Given the description of an element on the screen output the (x, y) to click on. 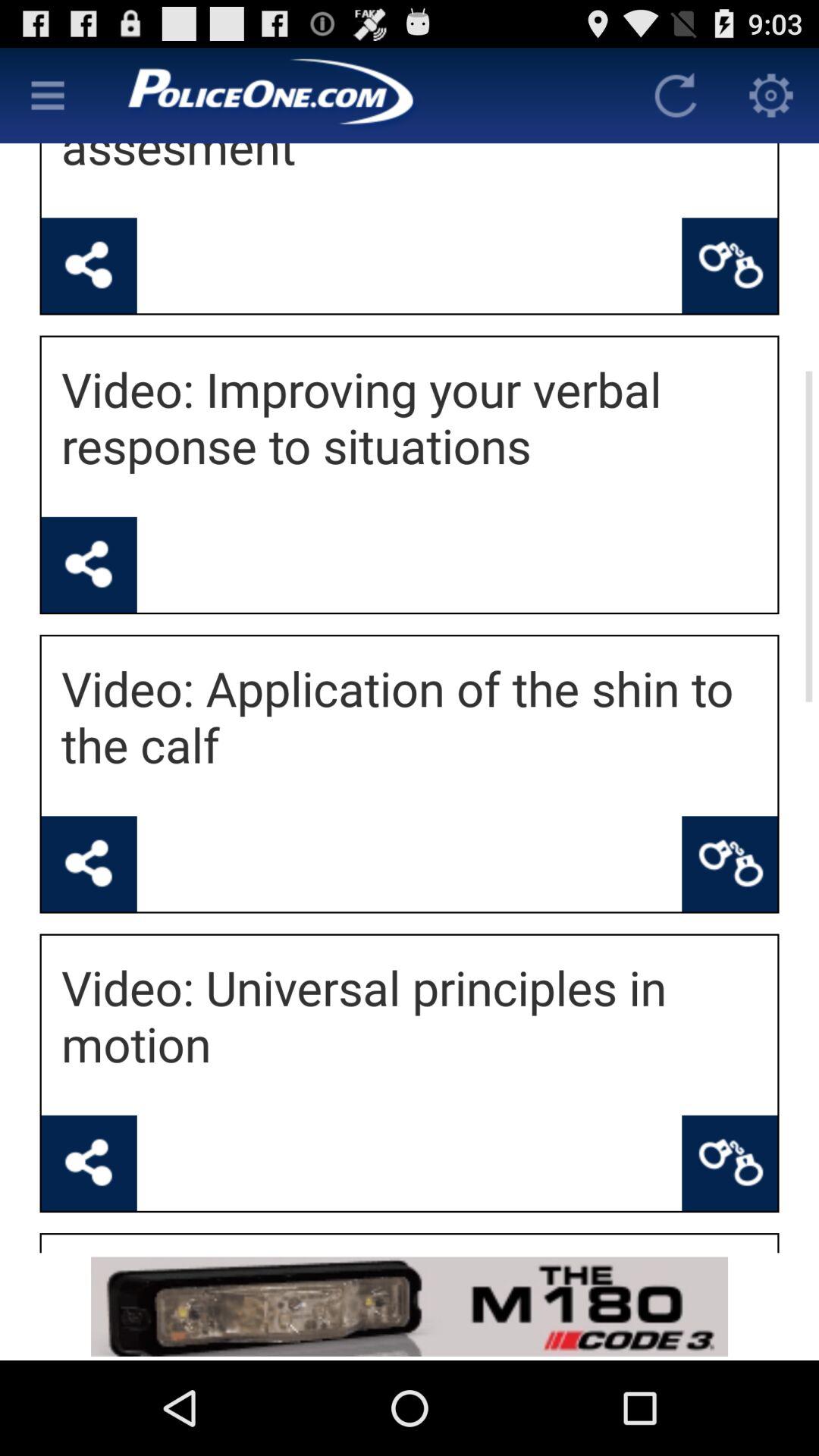
toggle autoplay option (675, 95)
